Given the description of an element on the screen output the (x, y) to click on. 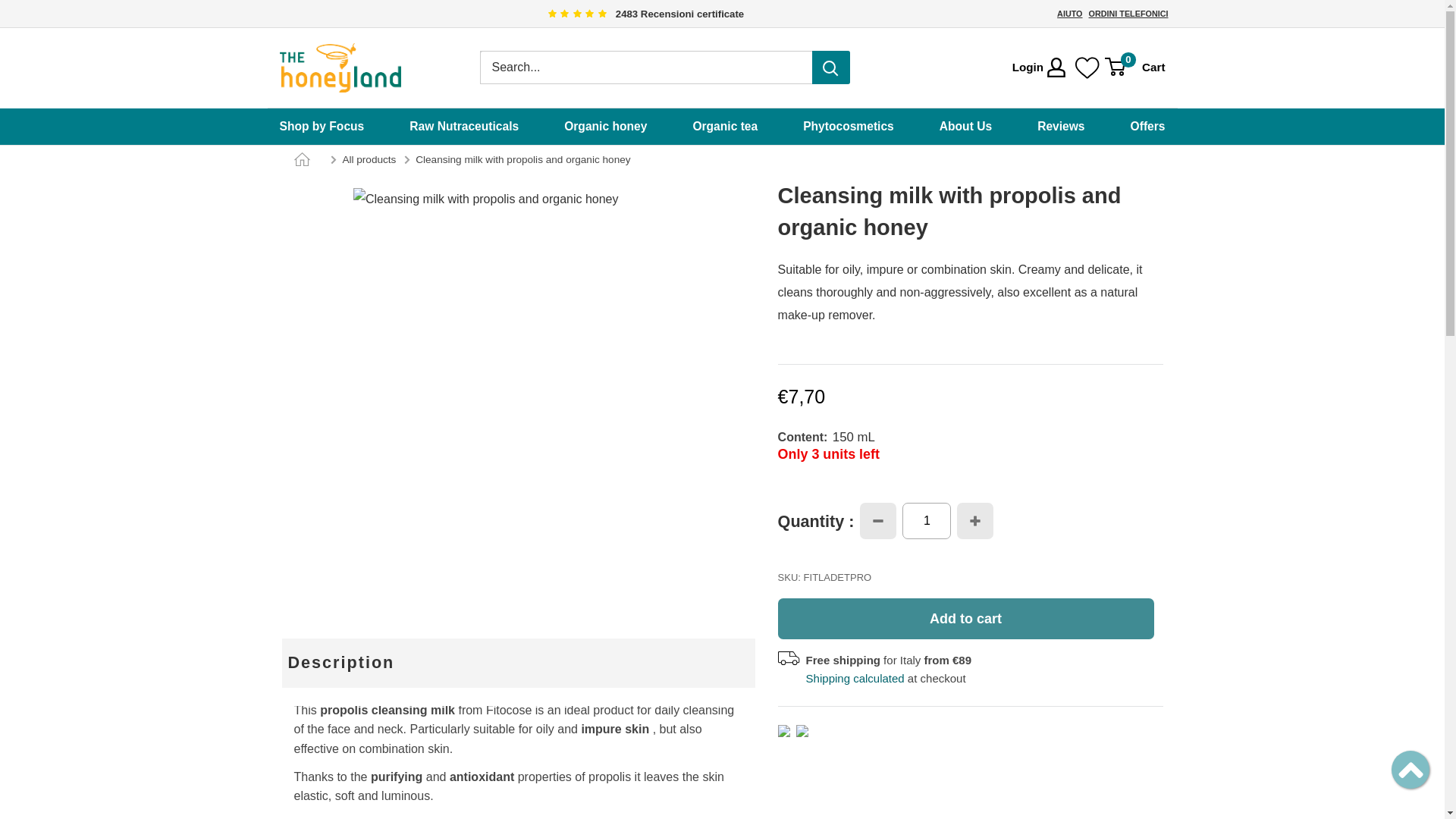
AIUTO (1069, 13)
2483 Recensioni certificate (642, 14)
Torna su (1410, 768)
Increase quantity by 1 (974, 520)
Decrease quantity by 1 (878, 520)
ORDINI TELEFONICI (1129, 13)
1 (926, 520)
The Honeyland (339, 67)
